Given the description of an element on the screen output the (x, y) to click on. 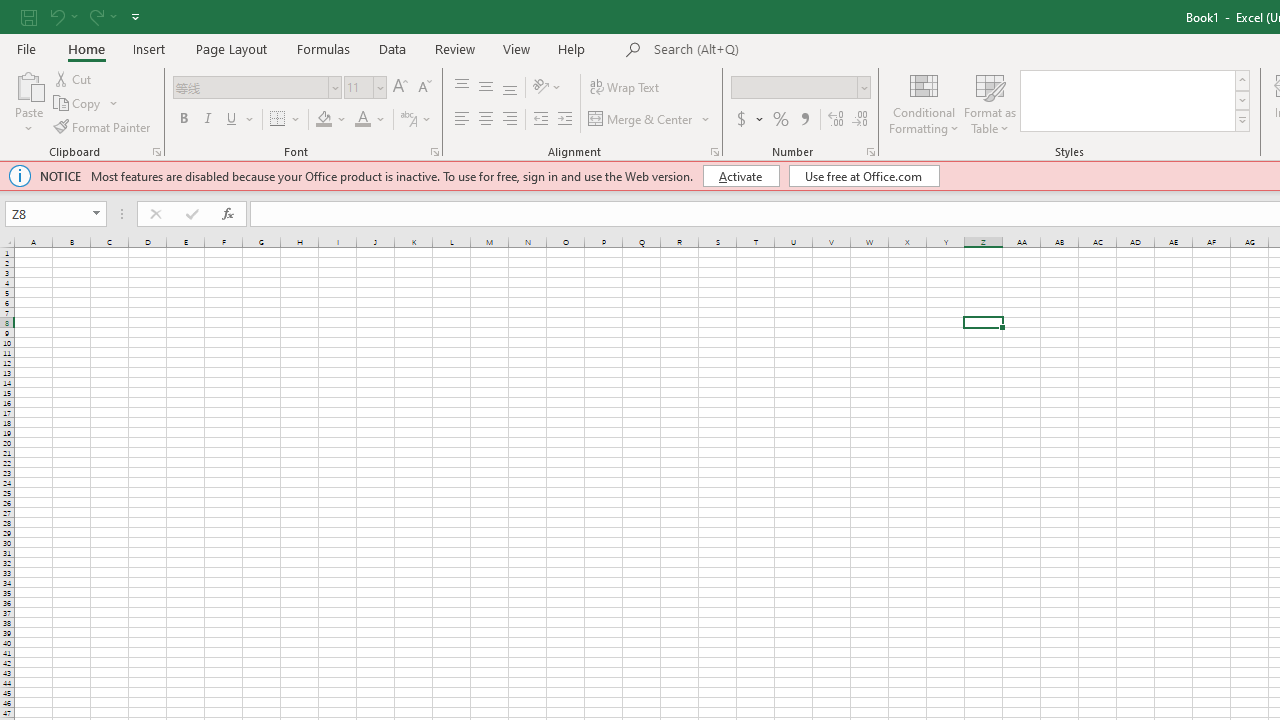
Align Right (509, 119)
File Tab (26, 48)
Format Cell Number (870, 151)
Row Down (1242, 100)
Review (454, 48)
Font (256, 87)
Accounting Number Format (741, 119)
Format Painter (103, 126)
Font Color (370, 119)
Show Phonetic Field (416, 119)
Activate (740, 175)
System (10, 11)
Underline (232, 119)
Conditional Formatting (924, 102)
Increase Font Size (399, 87)
